Given the description of an element on the screen output the (x, y) to click on. 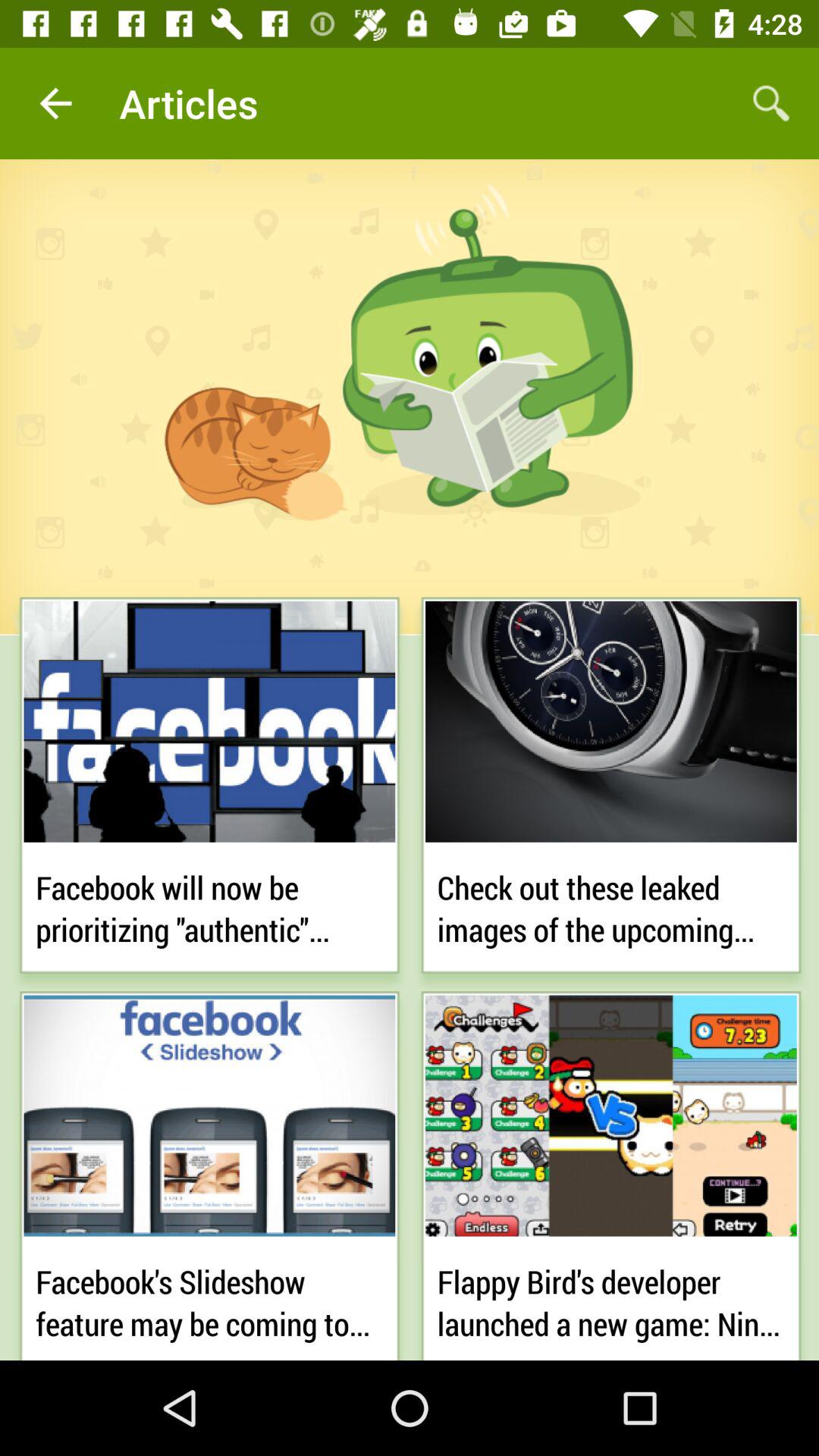
select app to the left of articles icon (55, 103)
